Given the description of an element on the screen output the (x, y) to click on. 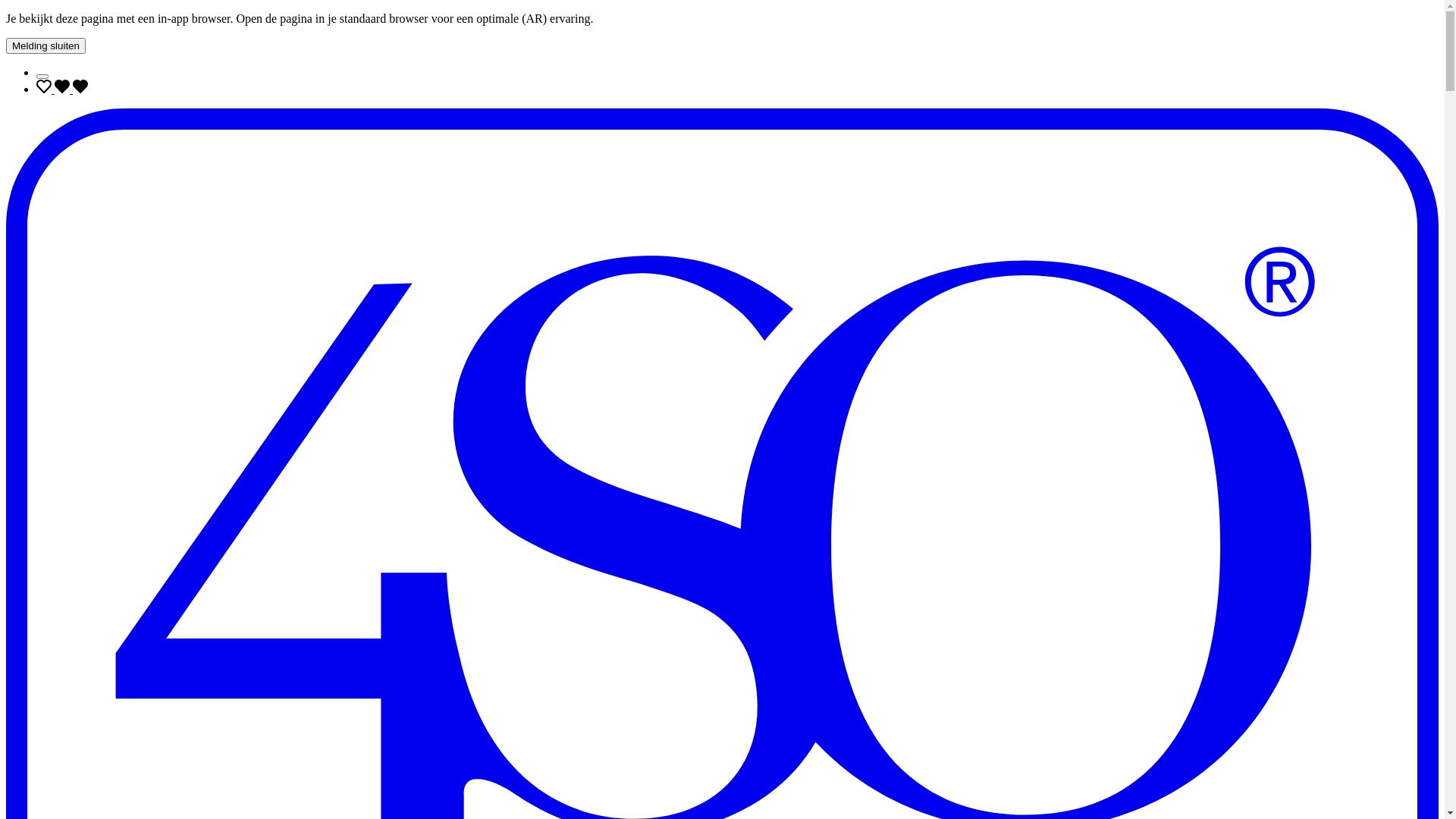
Melding sluiten Element type: text (45, 45)
